Given the description of an element on the screen output the (x, y) to click on. 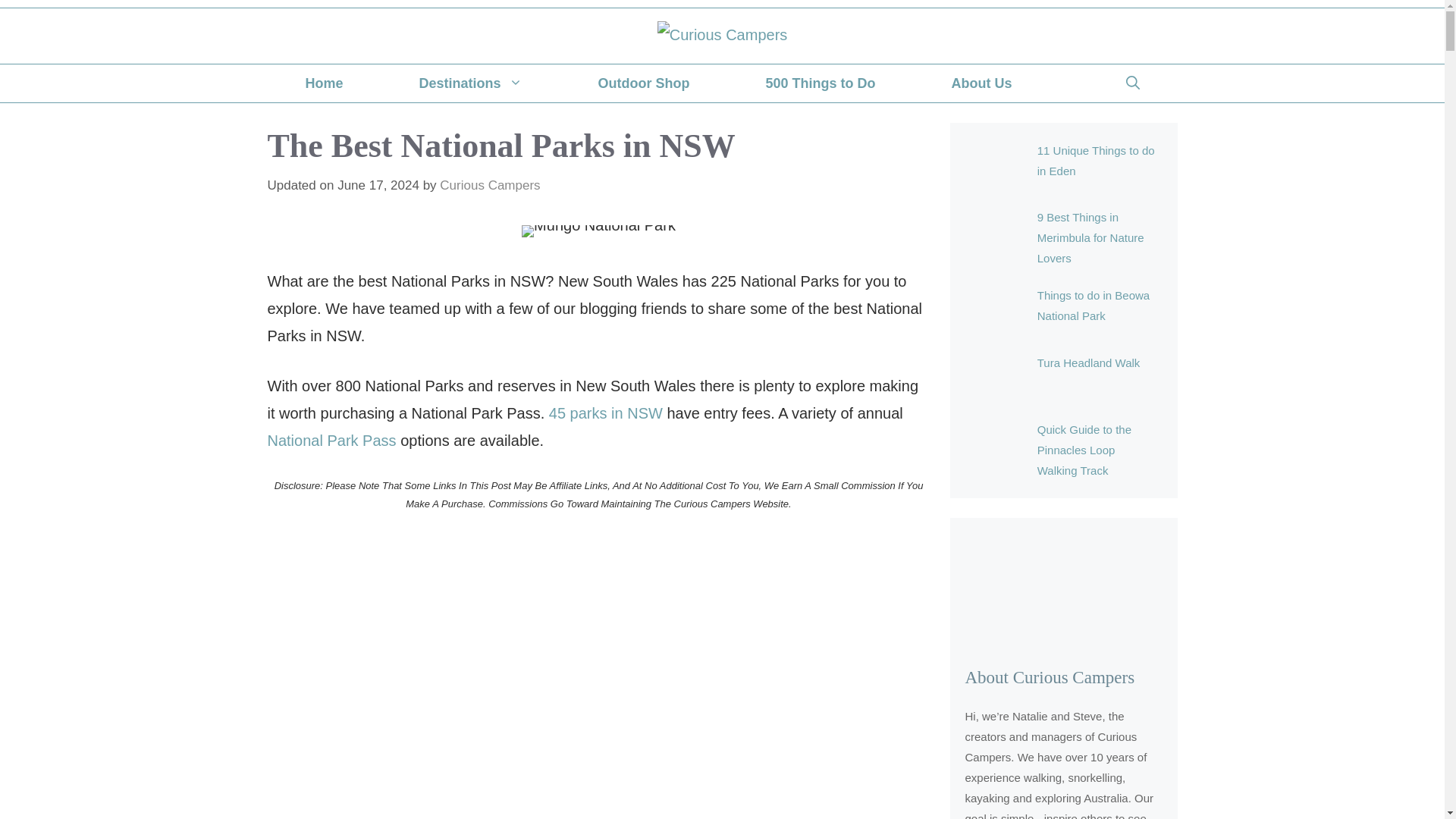
About Us (981, 83)
Outdoor Shop (644, 83)
Destinations (470, 83)
45 parks in NSW (607, 412)
National Park Pass (331, 440)
Home (323, 83)
View all posts by Curious Campers (489, 185)
500 Things to Do (821, 83)
Curious Campers (489, 185)
